Given the description of an element on the screen output the (x, y) to click on. 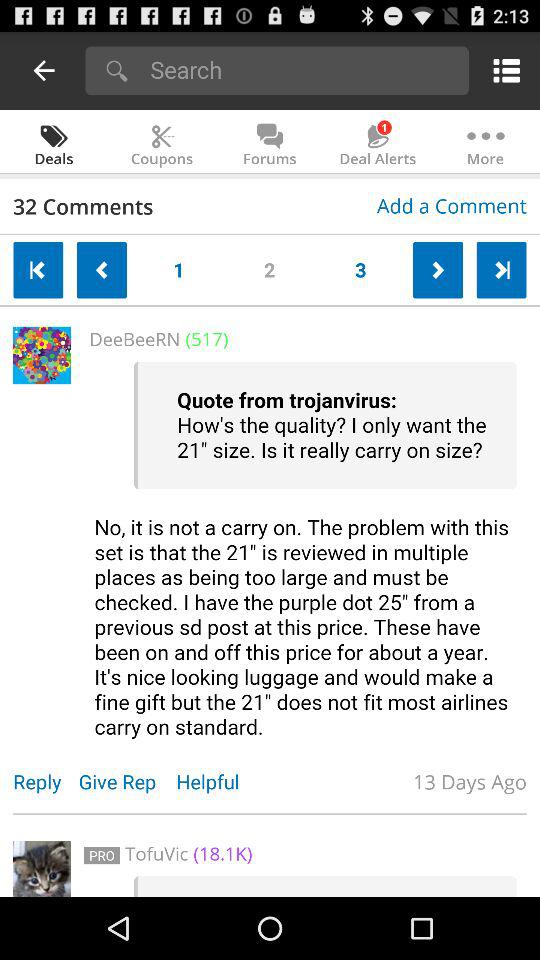
choose item next to the give rep item (45, 781)
